Given the description of an element on the screen output the (x, y) to click on. 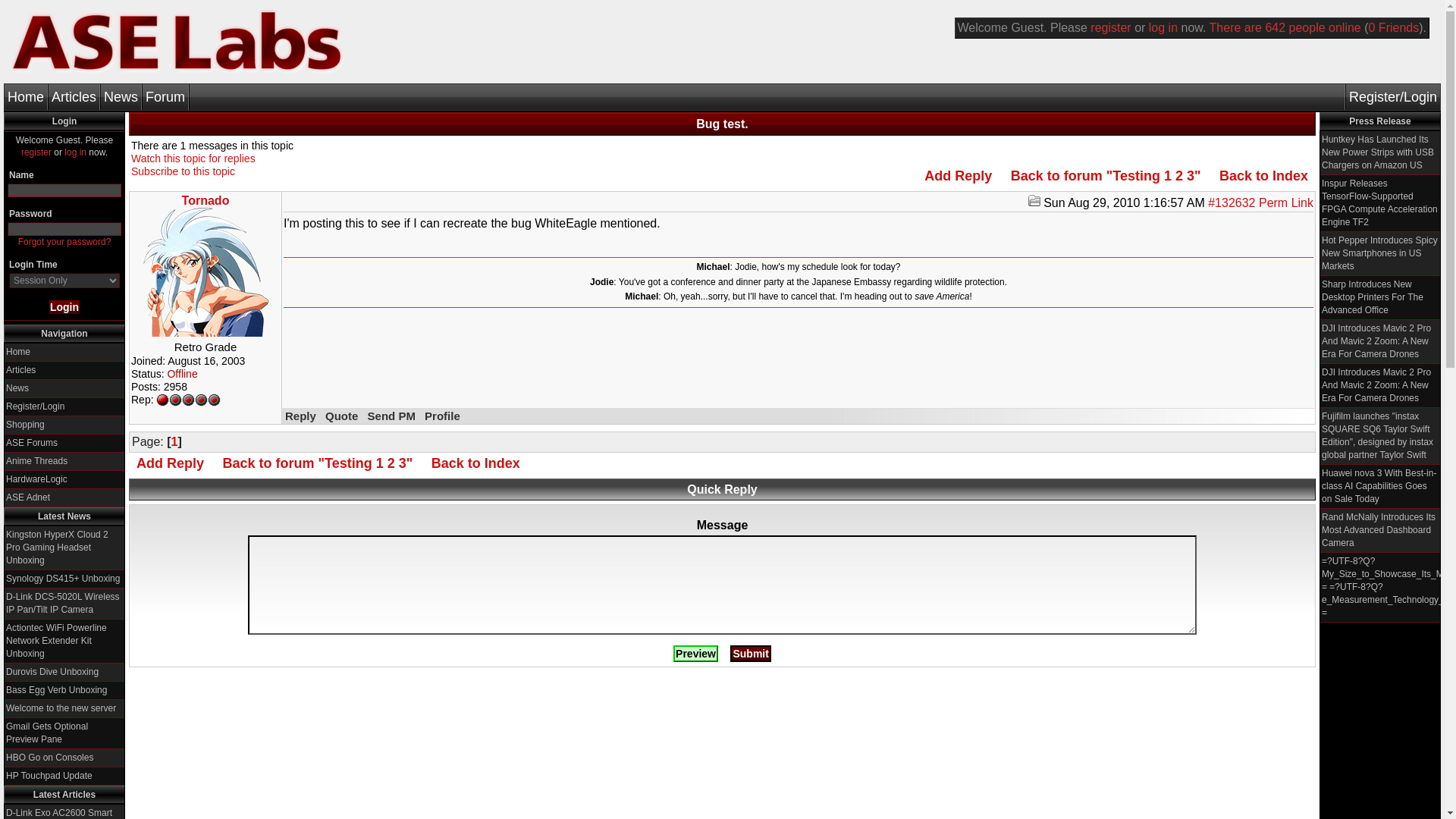
Perm Link (1286, 202)
Submit (750, 653)
register (35, 152)
0 Friends (1393, 27)
Back to forum "Testing 1 2 3" (1105, 175)
Forgot your password? (63, 241)
Watch this topic for replies (193, 158)
ASE Forums (31, 442)
Profile (442, 415)
Login (64, 306)
Add Reply (957, 175)
Quote (341, 415)
Submit (750, 653)
News (17, 388)
Tornado (206, 200)
